Given the description of an element on the screen output the (x, y) to click on. 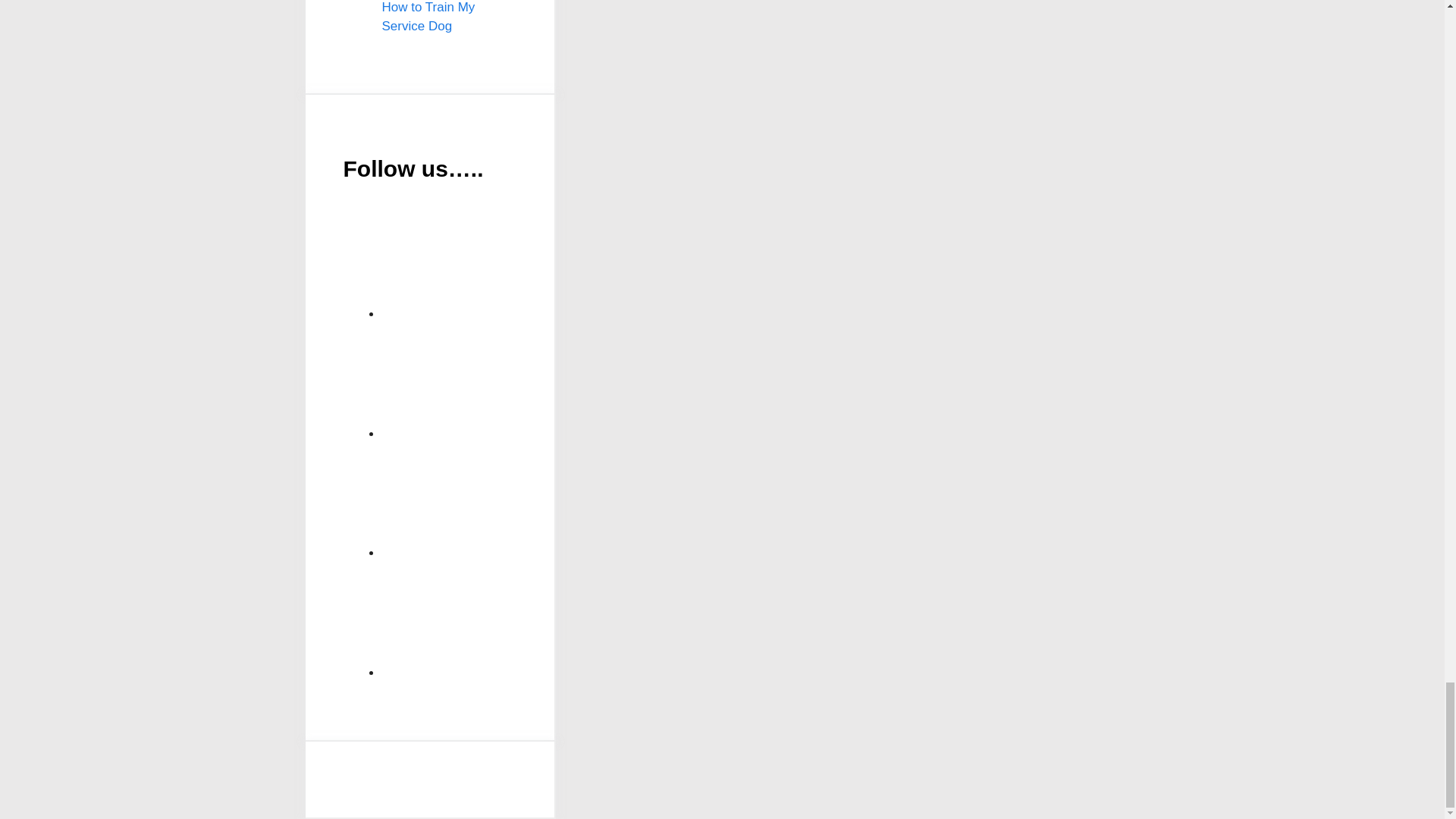
Email (495, 261)
Facebook (495, 381)
Pinterest (495, 500)
RSS (495, 620)
